Given the description of an element on the screen output the (x, y) to click on. 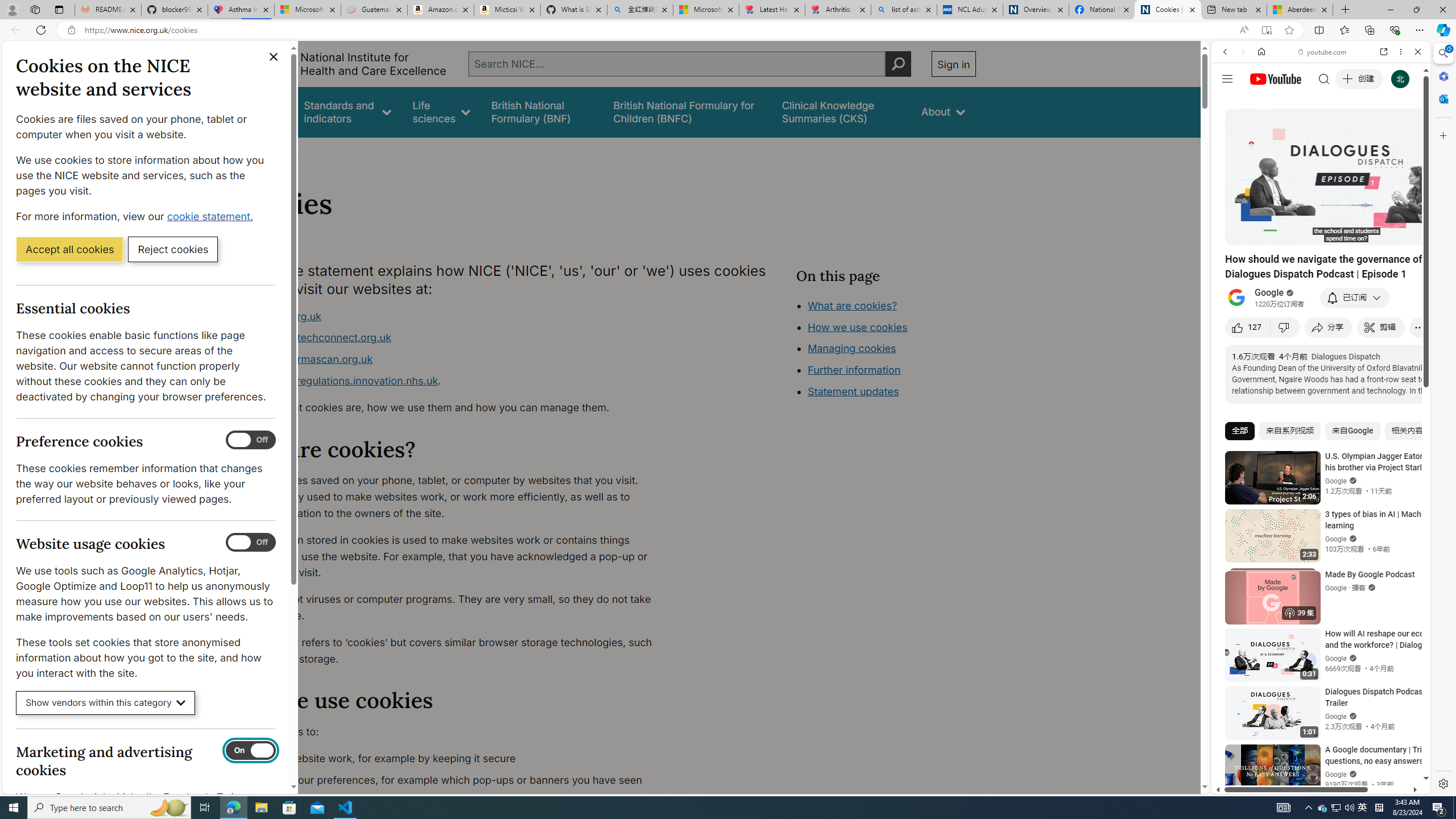
Actions for this site (1371, 661)
Asthma Inhalers: Names and Types (240, 9)
About (283, 152)
Reject cookies (173, 248)
Music (1320, 309)
